Given the description of an element on the screen output the (x, y) to click on. 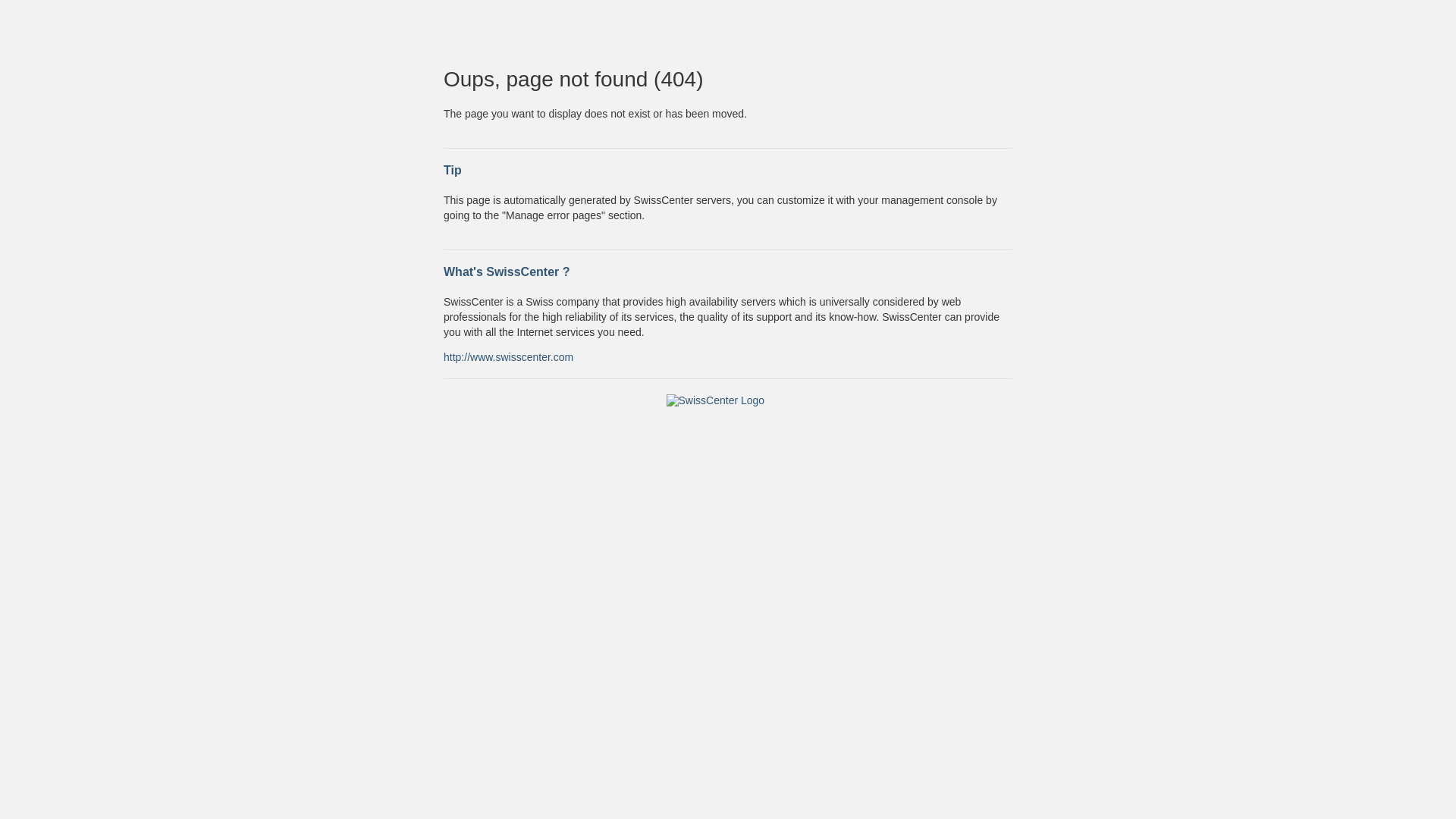
http://www.swisscenter.com Element type: text (508, 356)
